Given the description of an element on the screen output the (x, y) to click on. 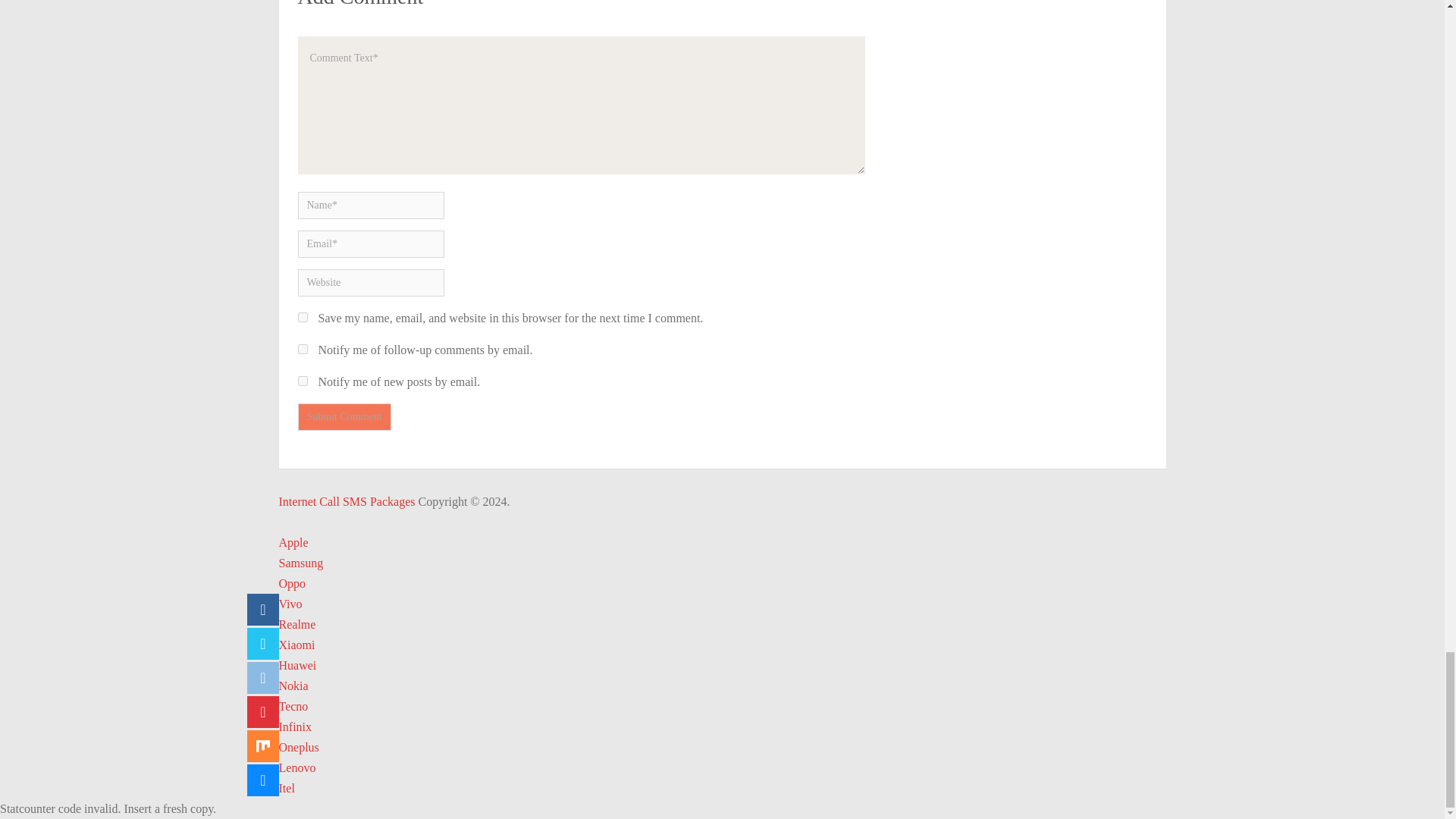
subscribe (302, 380)
yes (302, 317)
Submit Comment (343, 416)
subscribe (302, 348)
